Given the description of an element on the screen output the (x, y) to click on. 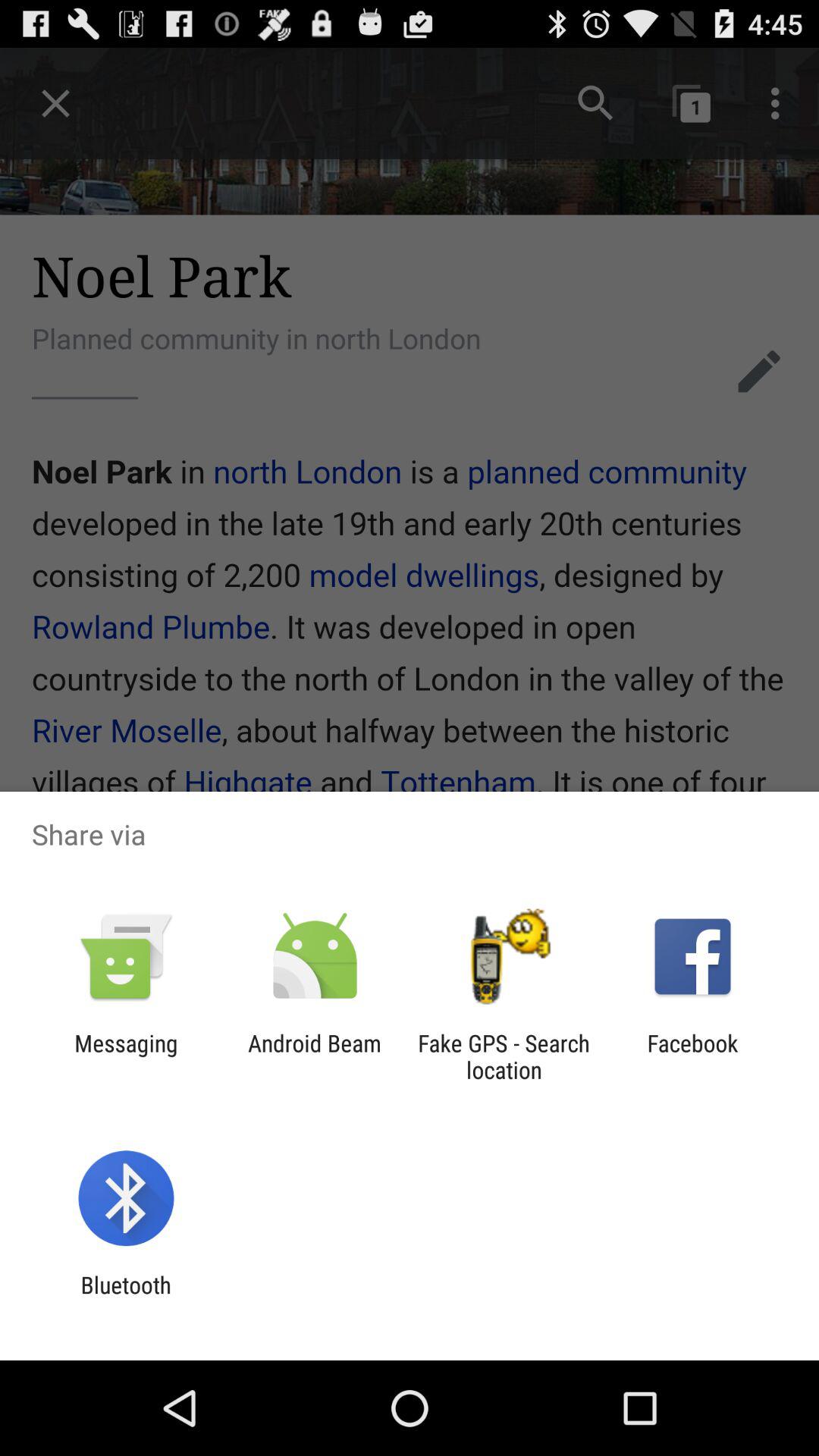
press facebook app (692, 1056)
